Given the description of an element on the screen output the (x, y) to click on. 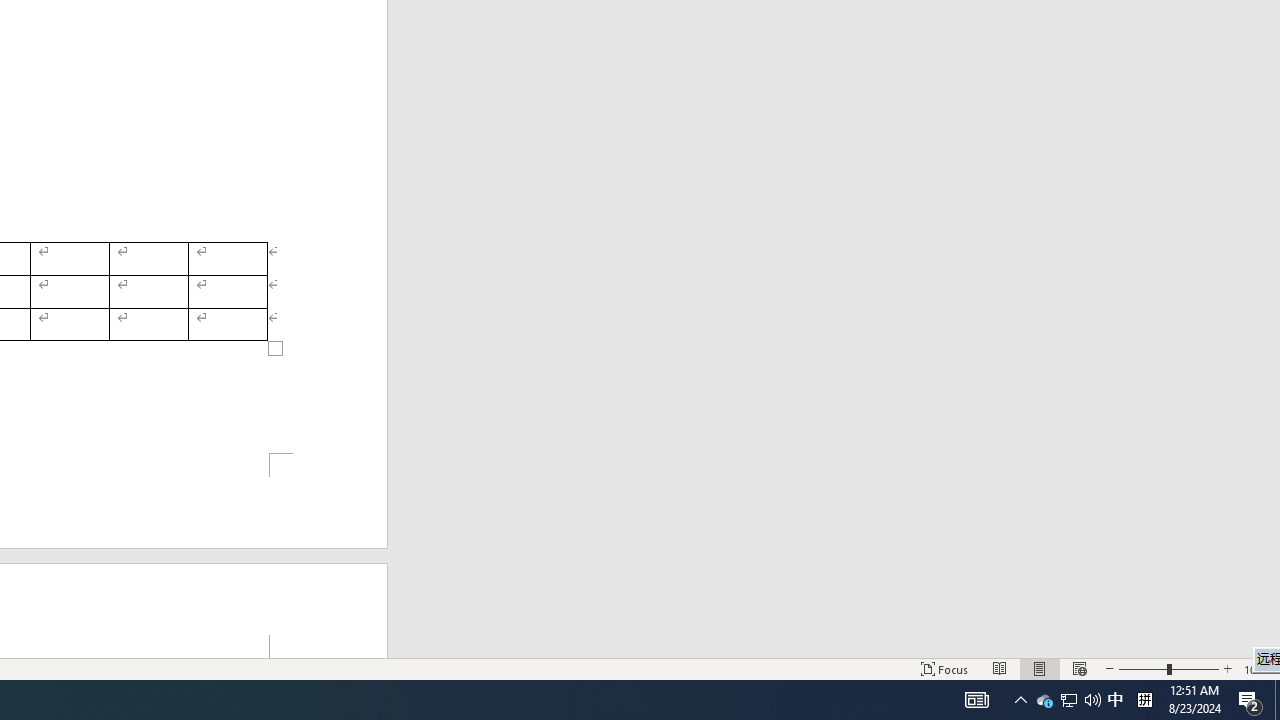
Print Layout (1039, 668)
Zoom Out (1142, 668)
Zoom (1168, 668)
Read Mode (1000, 668)
Zoom 100% (1258, 668)
Zoom In (1227, 668)
Web Layout (1079, 668)
Focus  (944, 668)
